Given the description of an element on the screen output the (x, y) to click on. 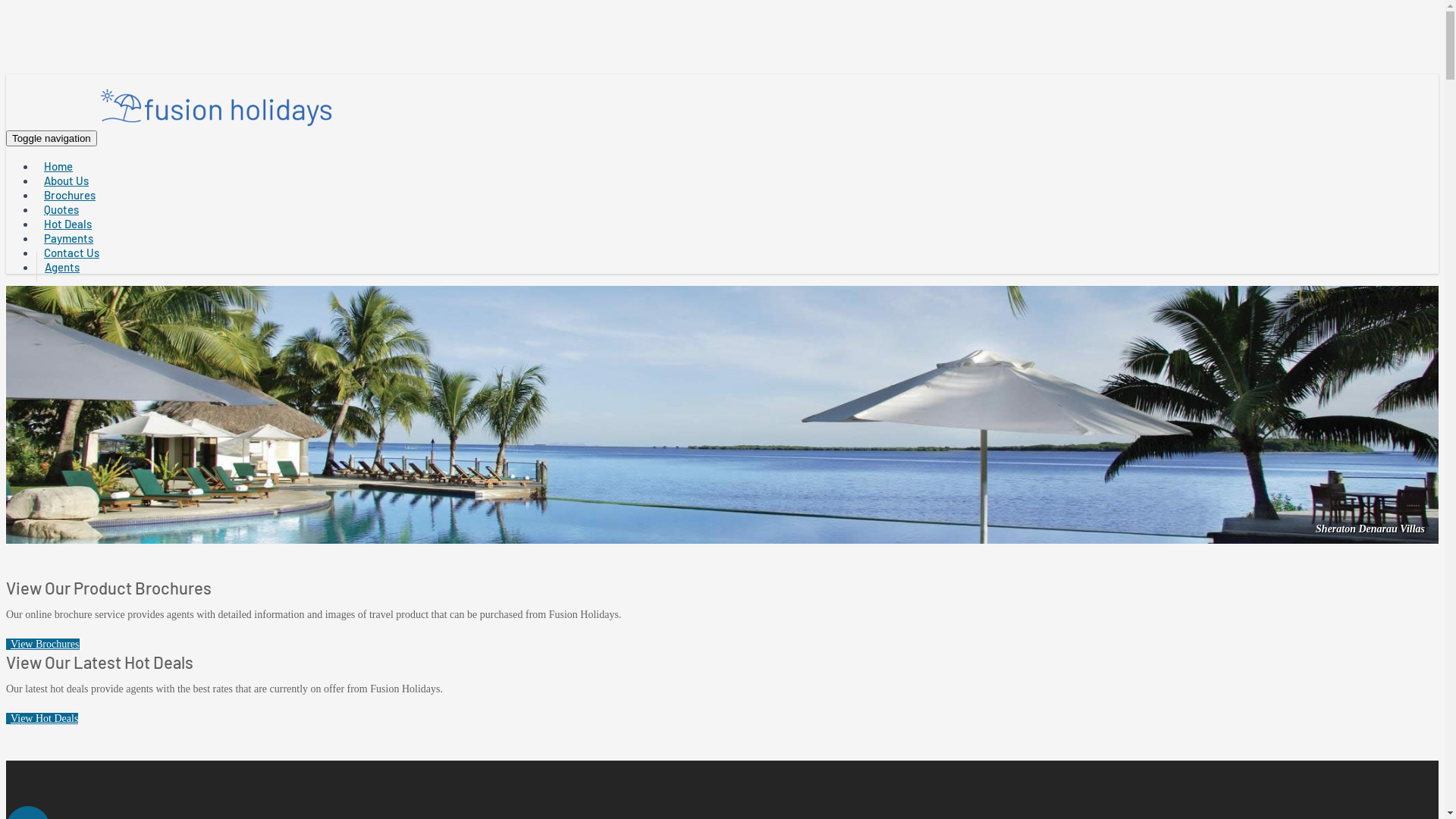
Toggle navigation Element type: text (51, 138)
Hot Deals Element type: text (67, 223)
View Hot Deals Element type: text (42, 718)
View Brochures Element type: text (42, 643)
Home Element type: text (58, 165)
Payments Element type: text (68, 237)
Brochures Element type: text (69, 194)
Contact Us Element type: text (71, 252)
About Us Element type: text (66, 180)
Agents Element type: text (61, 266)
Quotes Element type: text (61, 208)
